Given the description of an element on the screen output the (x, y) to click on. 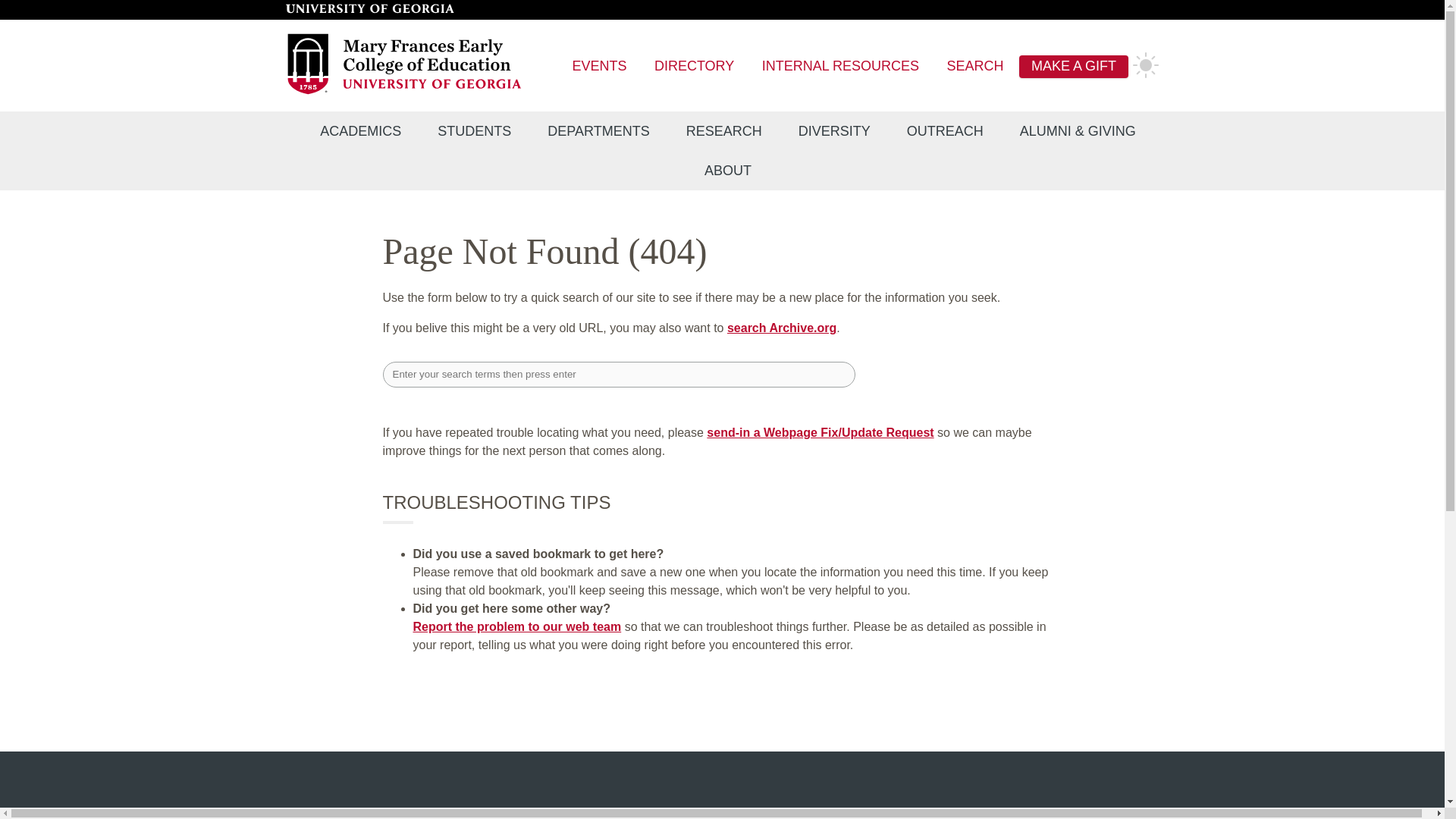
Main UGA Website (368, 9)
DIRECTORY (693, 66)
RESEARCH (724, 131)
Mary Frances Early College of Education (404, 91)
MAKE A GIFT (1073, 66)
EVENTS (599, 66)
SEARCH (975, 66)
ACADEMICS (360, 131)
STUDENTS (474, 131)
DEPARTMENTS (597, 131)
